Given the description of an element on the screen output the (x, y) to click on. 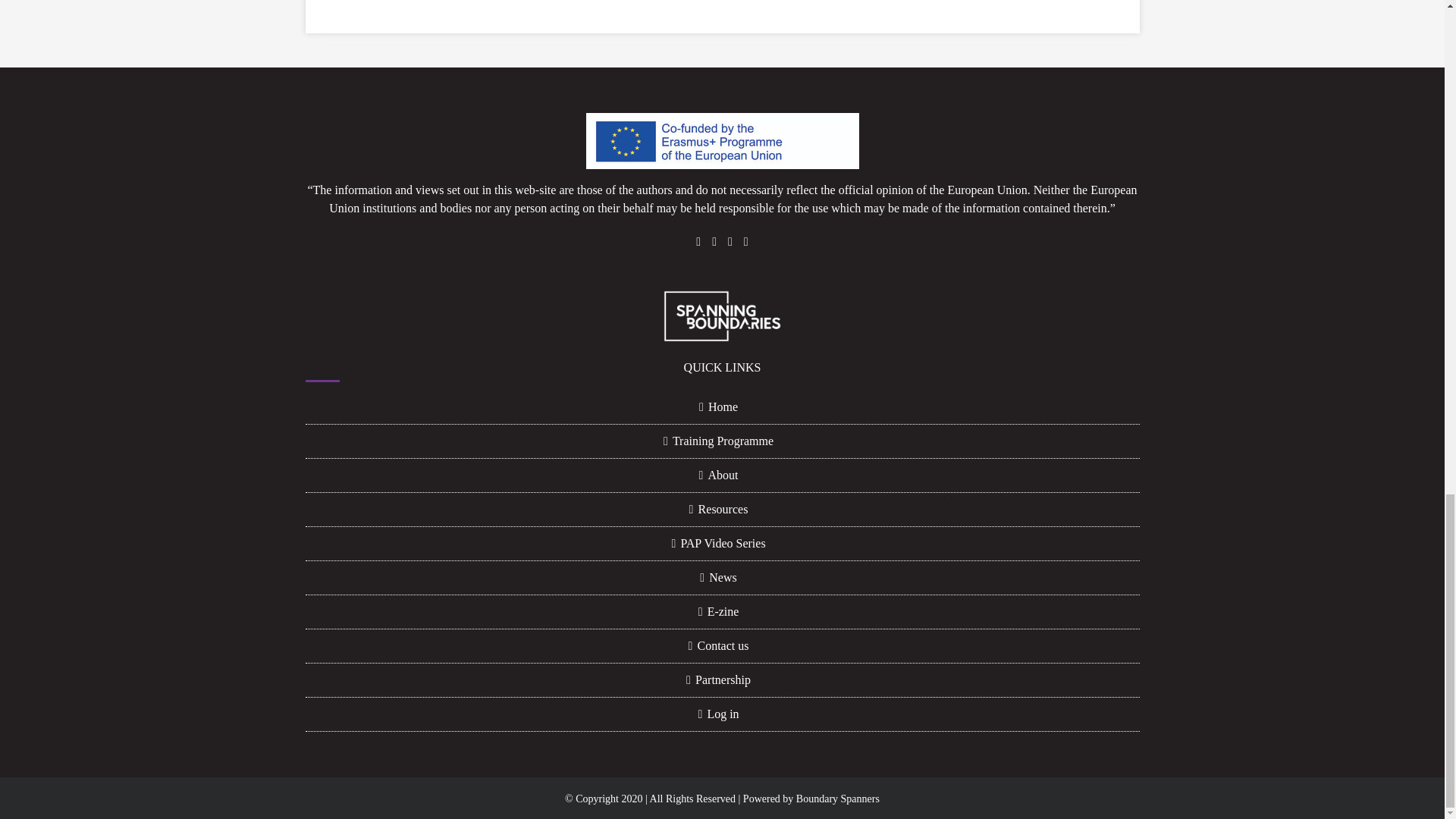
Log in (722, 714)
Boundary Spanners (837, 798)
News (722, 577)
E-zine (722, 611)
Partnership (722, 679)
Resources (722, 509)
PAP Video Series (722, 543)
Contact us (722, 646)
About (722, 475)
Home (722, 407)
Training Programme (722, 441)
